Given the description of an element on the screen output the (x, y) to click on. 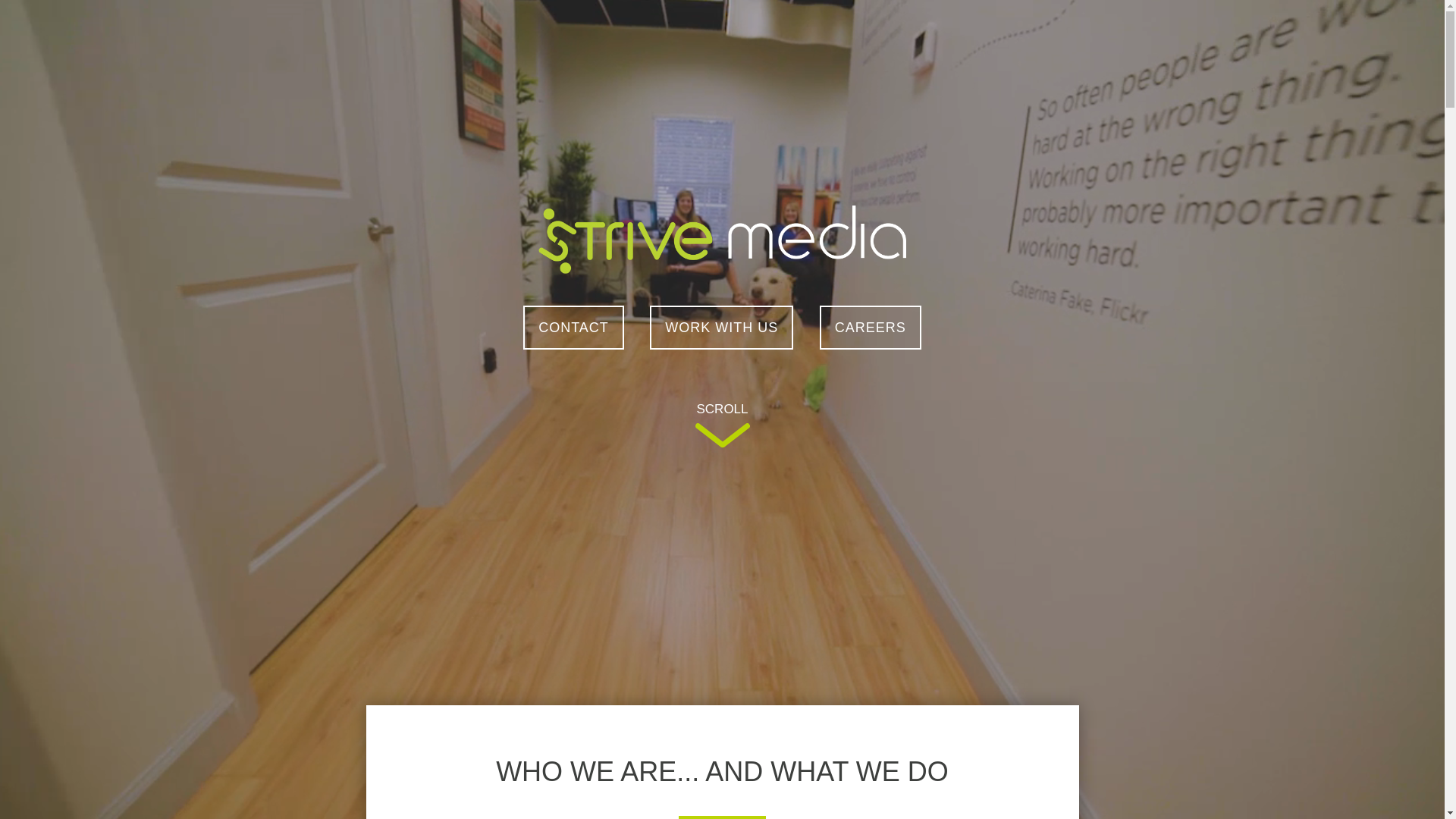
CAREERS Element type: text (870, 327)
CONTACT Element type: text (573, 327)
SCROLL Element type: text (722, 427)
WORK WITH US Element type: text (721, 327)
